Given the description of an element on the screen output the (x, y) to click on. 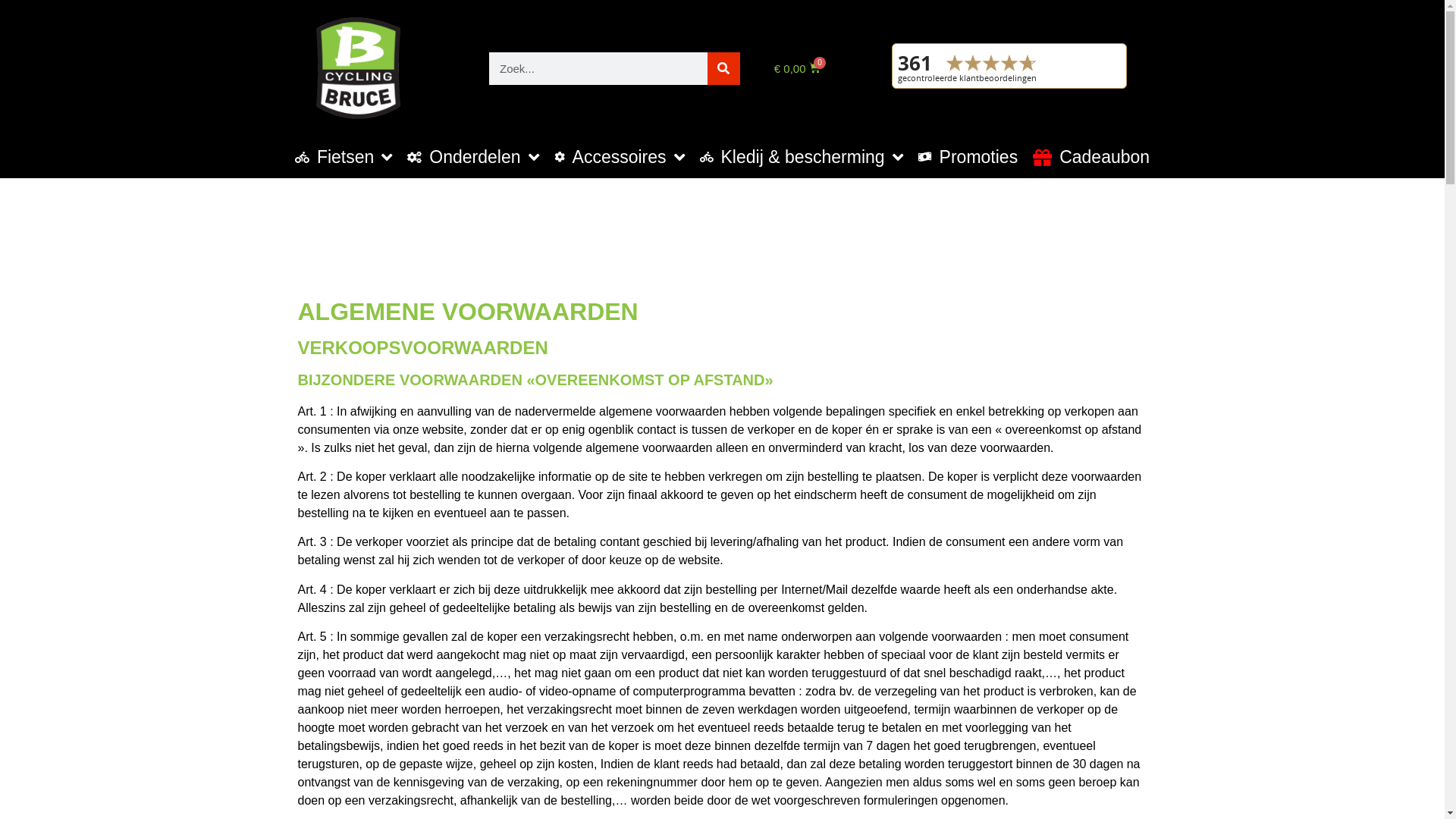
Kledij & bescherming Element type: text (801, 157)
Cadeaubon Element type: text (1091, 157)
Accessoires Element type: text (619, 157)
Fietsen Element type: text (343, 157)
Onderdelen Element type: text (472, 157)
Promoties Element type: text (968, 157)
